Given the description of an element on the screen output the (x, y) to click on. 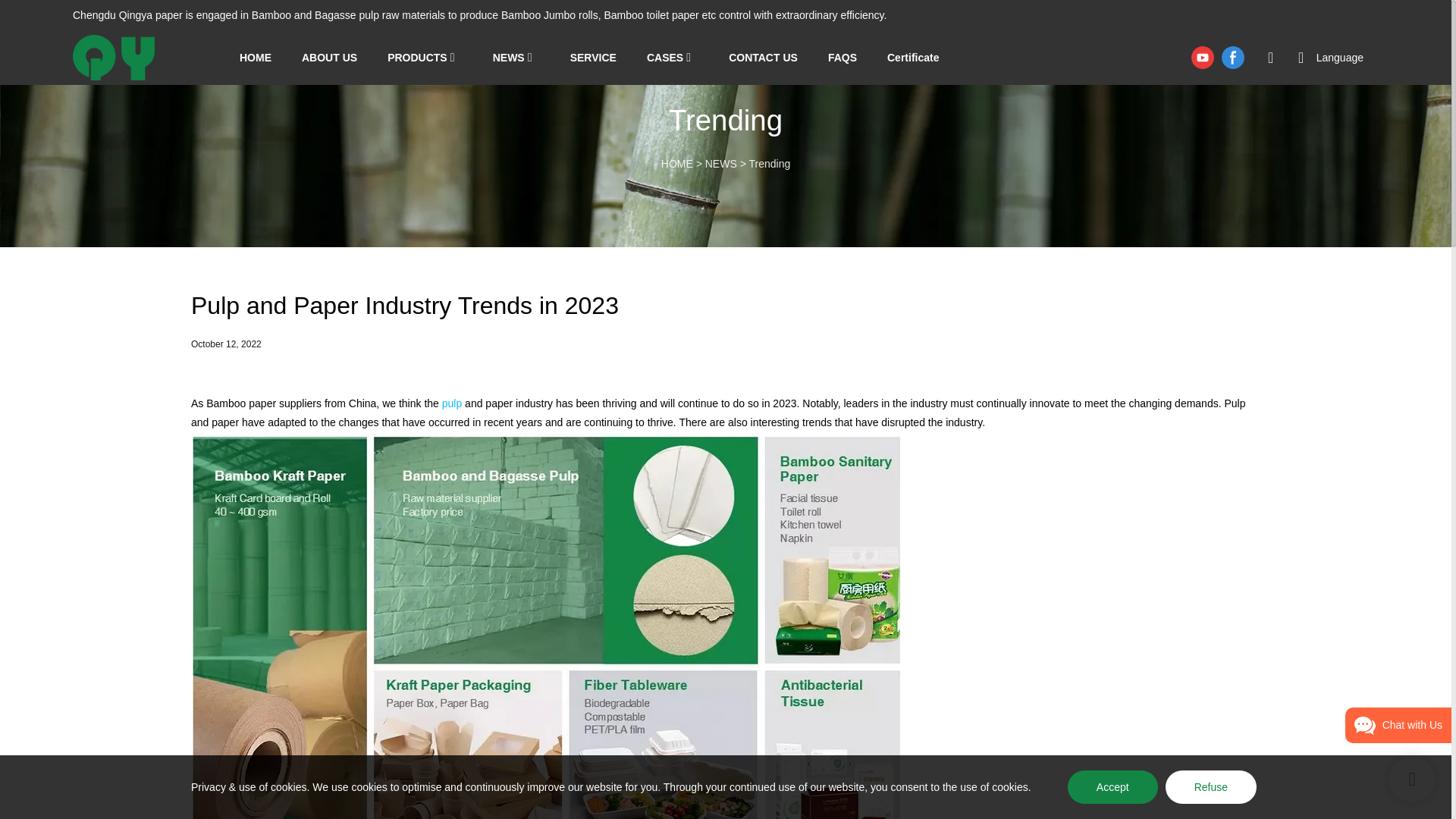
PRODUCTS (416, 57)
SERVICE (592, 57)
pulp (451, 403)
ABOUT US (328, 57)
youtube (1202, 57)
facebook (1232, 57)
